Given the description of an element on the screen output the (x, y) to click on. 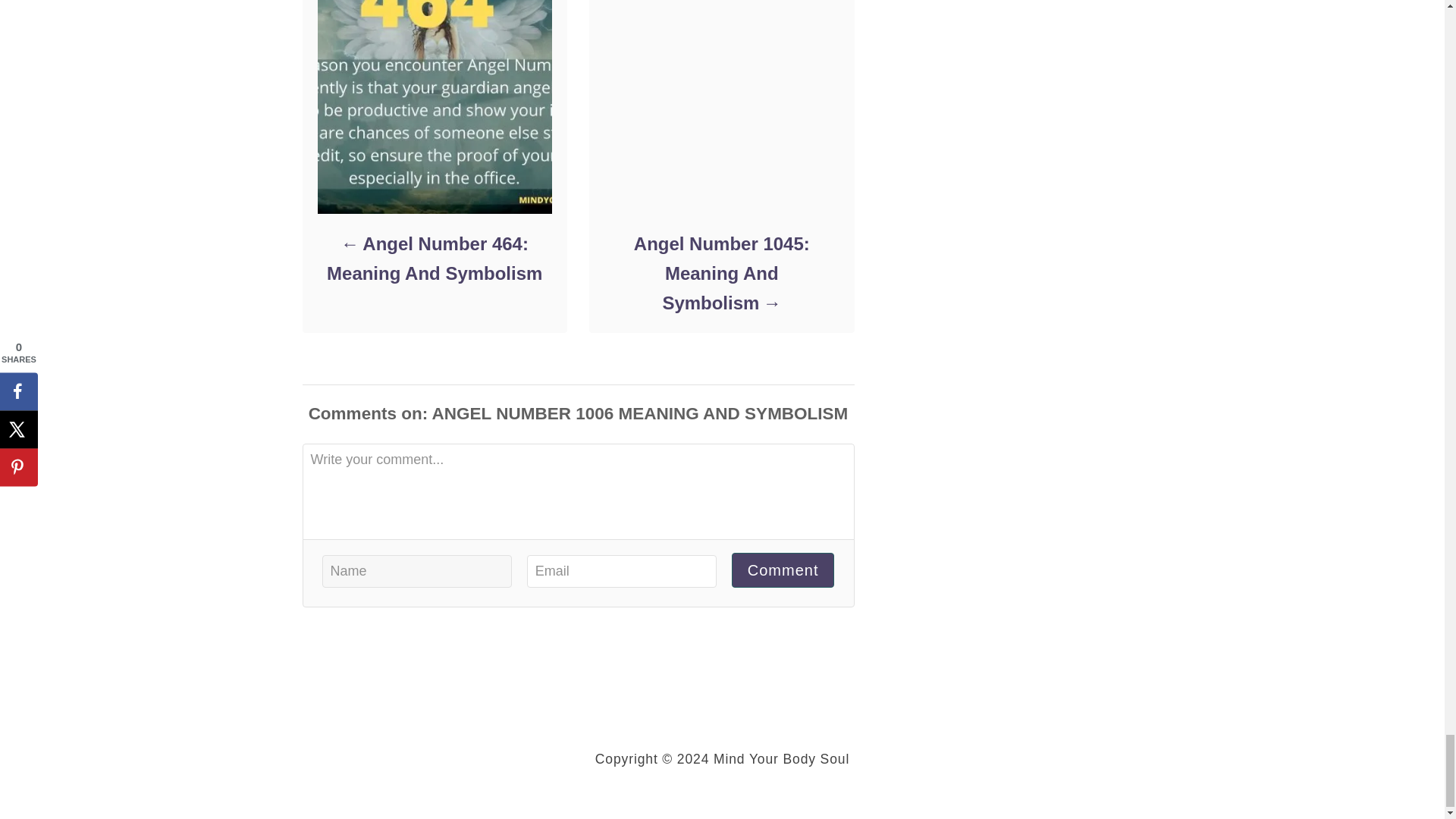
Angel Number 464: Meaning And Symbolism (434, 258)
Angel Number 1045: Meaning And Symbolism (721, 273)
Comment (783, 570)
